Given the description of an element on the screen output the (x, y) to click on. 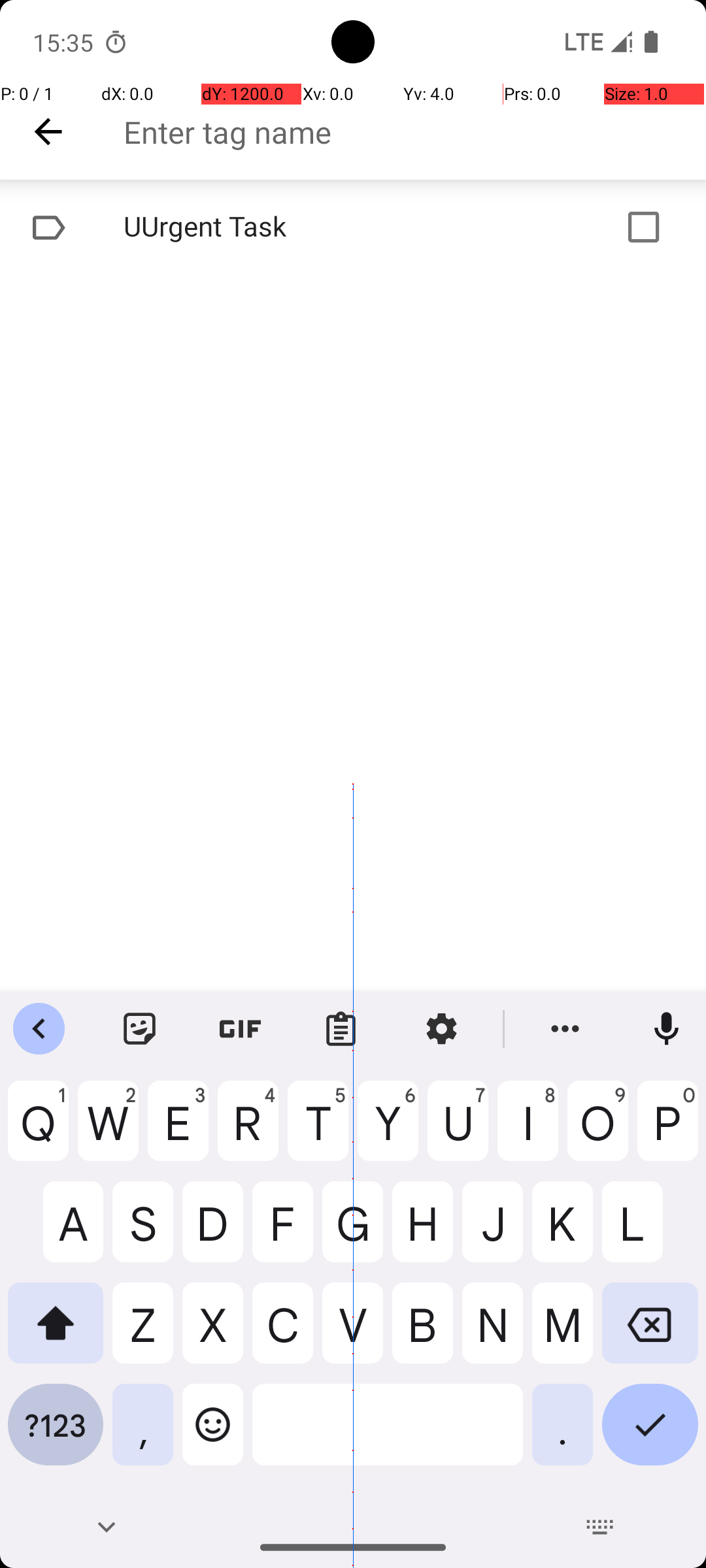
Enter tag name Element type: android.widget.EditText (414, 131)
UUrgent Task Element type: android.widget.TextView (311, 227)
